Given the description of an element on the screen output the (x, y) to click on. 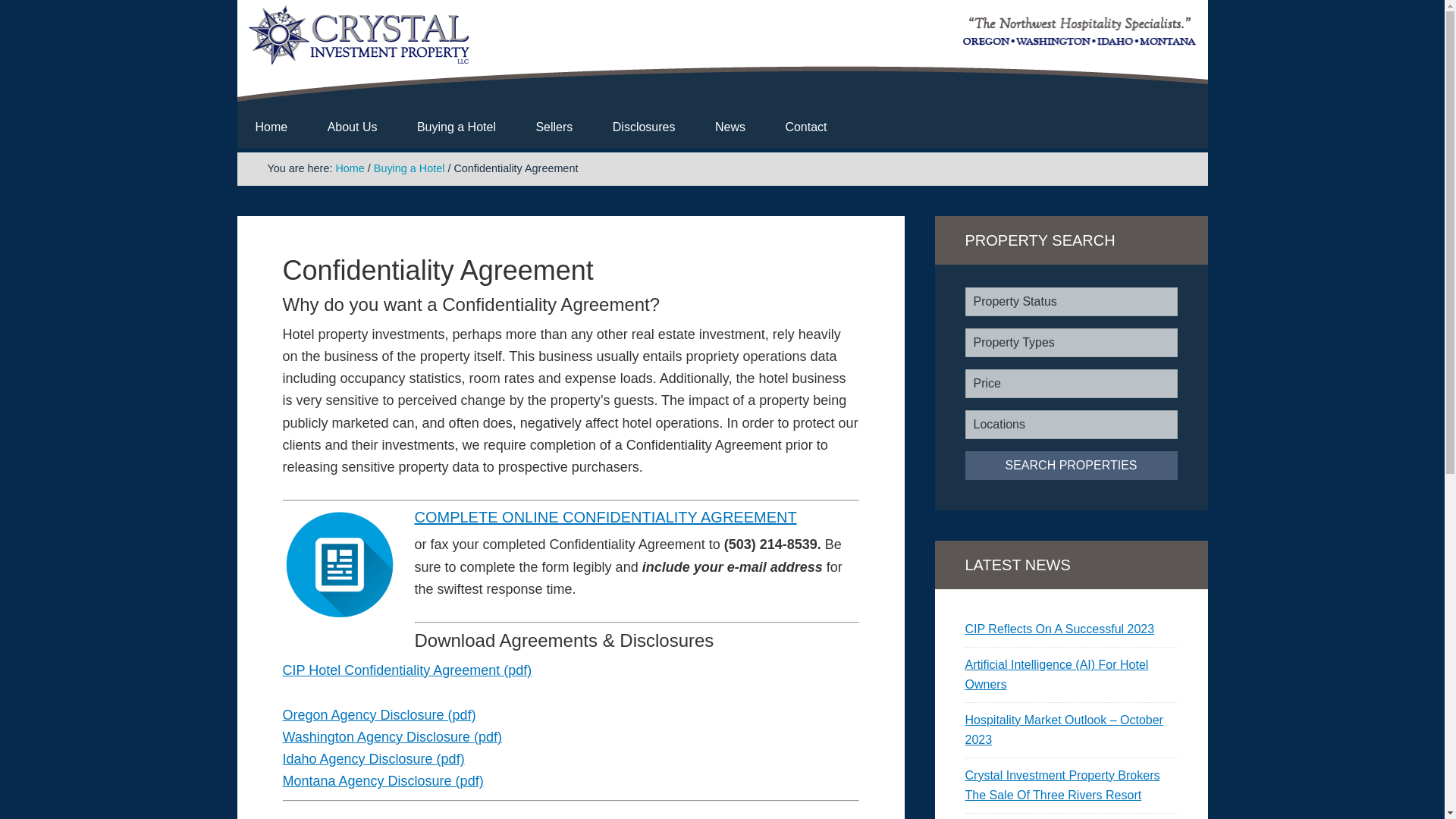
Disclosures (644, 127)
Contact (805, 127)
Search Properties (1069, 465)
Search Properties (1069, 465)
Buying a Hotel (455, 127)
Sellers (553, 127)
Home (270, 127)
News (729, 127)
About Us (352, 127)
